Given the description of an element on the screen output the (x, y) to click on. 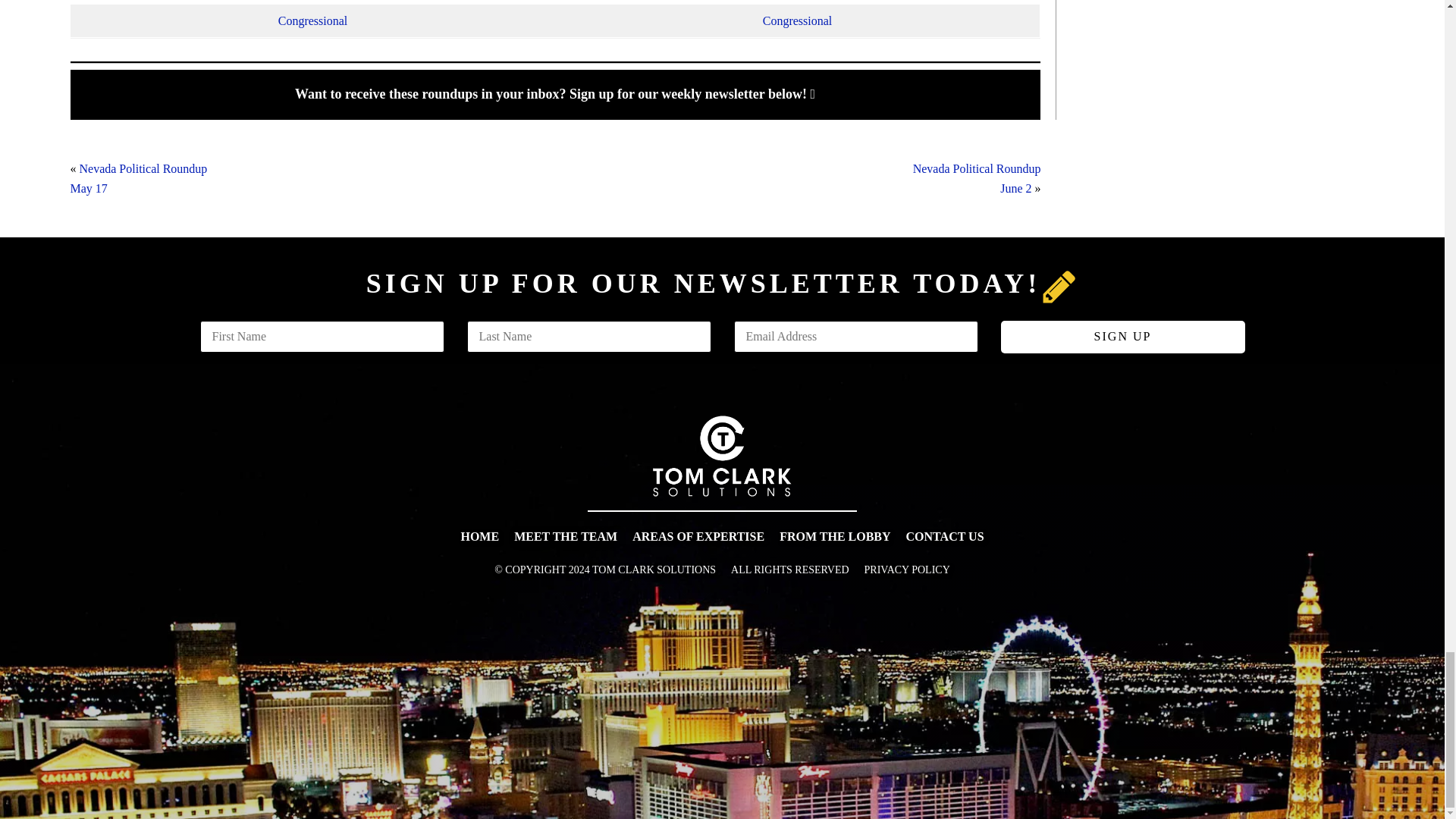
Congressional (312, 20)
Sign up (1122, 336)
Congressional (797, 20)
Sign up (976, 178)
